Given the description of an element on the screen output the (x, y) to click on. 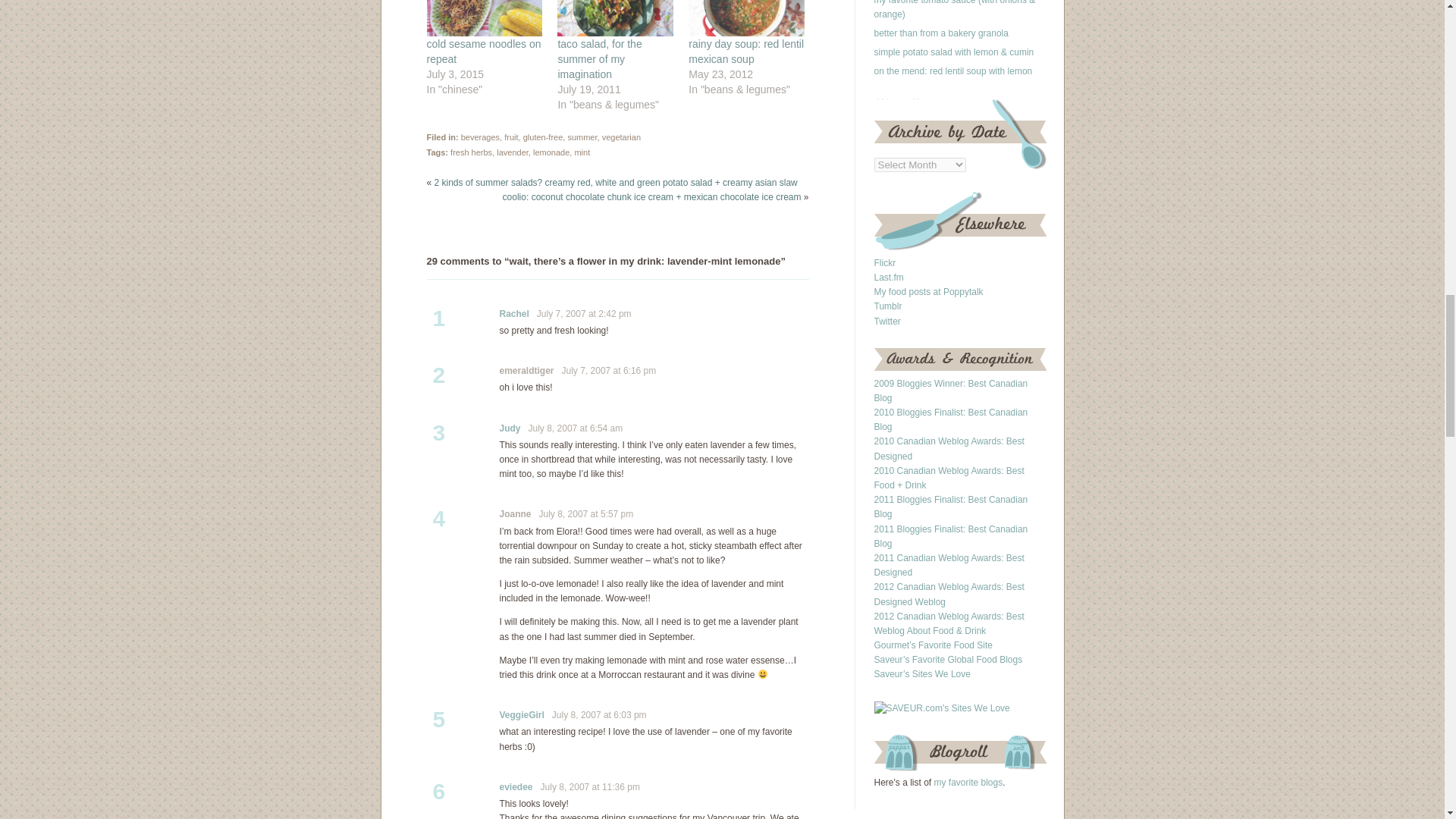
taco salad, for the summer of my imagination (599, 58)
rainy day soup: red lentil mexican soup (746, 18)
fruit (510, 136)
gluten-free (542, 136)
cold sesame noodles on repeat (483, 51)
taco salad, for the summer of my imagination (614, 18)
vegetarian (621, 136)
lavender (512, 151)
Judy (509, 428)
cold sesame noodles on repeat (483, 18)
summer (581, 136)
beverages (480, 136)
lemonade (550, 151)
Rachel (513, 313)
rainy day soup: red lentil mexican soup (745, 51)
